Given the description of an element on the screen output the (x, y) to click on. 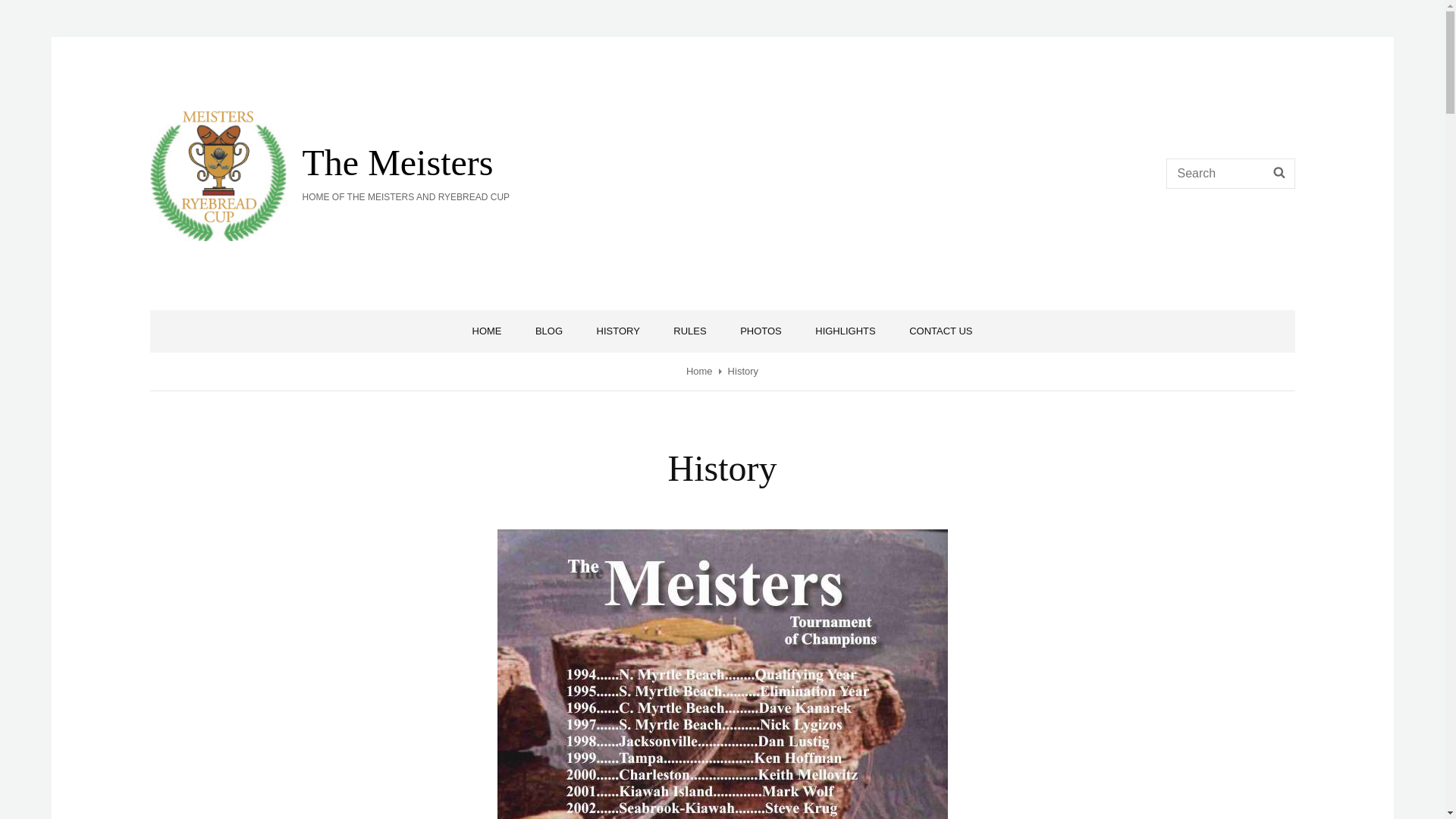
The Meisters (397, 162)
HIGHLIGHTS (844, 331)
HOME (486, 331)
HISTORY (617, 331)
Home (699, 370)
RULES (689, 331)
SEARCH (1278, 173)
PHOTOS (760, 331)
CONTACT US (940, 331)
BLOG (548, 331)
